Given the description of an element on the screen output the (x, y) to click on. 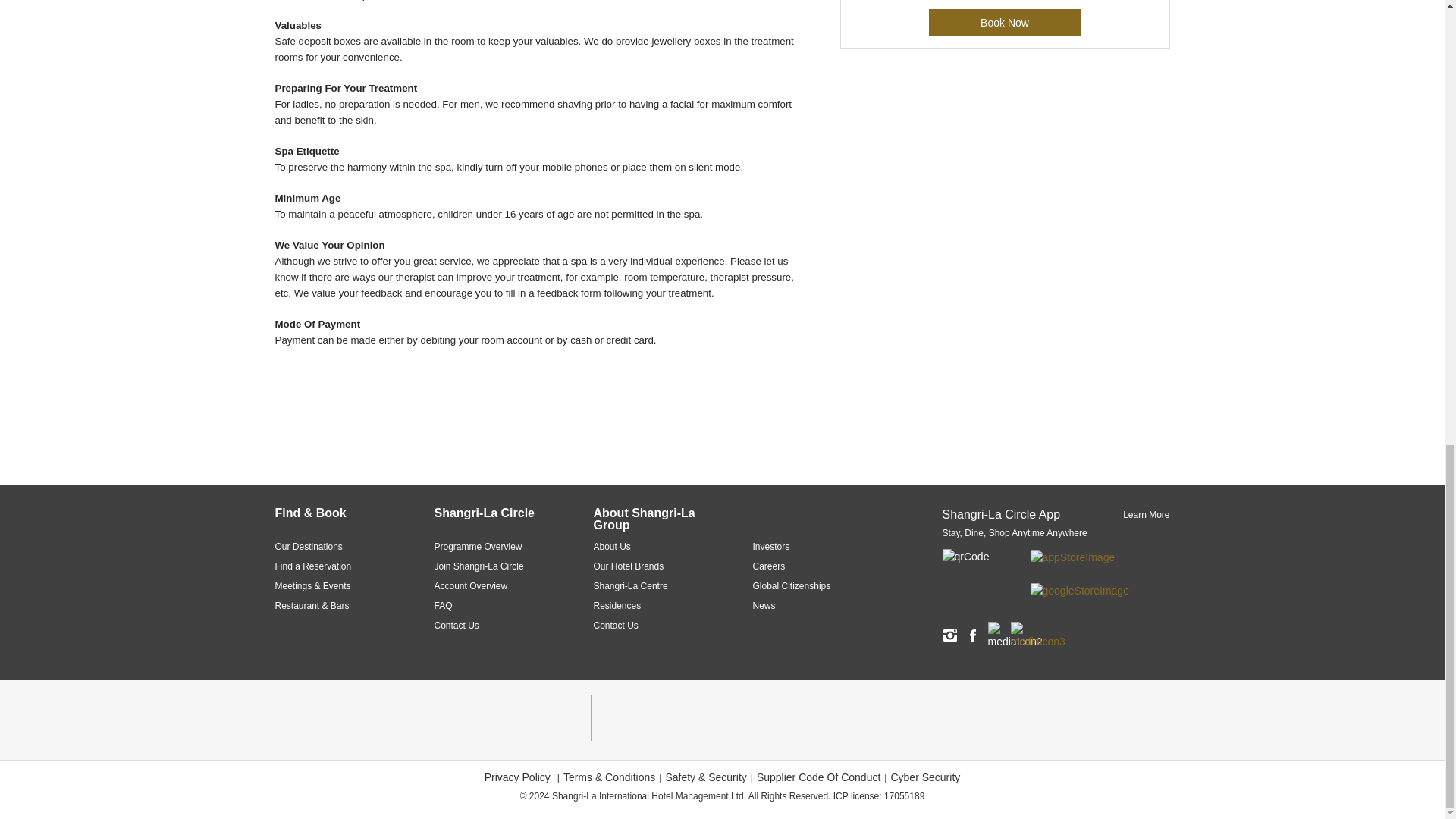
Contact Us (653, 625)
Book Now (1004, 22)
Careers (812, 566)
FAQ (493, 605)
Join Shangri-La Circle (493, 566)
Our Hotel Brands (653, 566)
Learn More (1145, 514)
Cyber Security (924, 776)
Account Overview (493, 585)
Our Destinations (335, 546)
News (812, 605)
About Us (653, 546)
Programme Overview (493, 546)
Global Citizenships (812, 585)
Find a Reservation (335, 566)
